Given the description of an element on the screen output the (x, y) to click on. 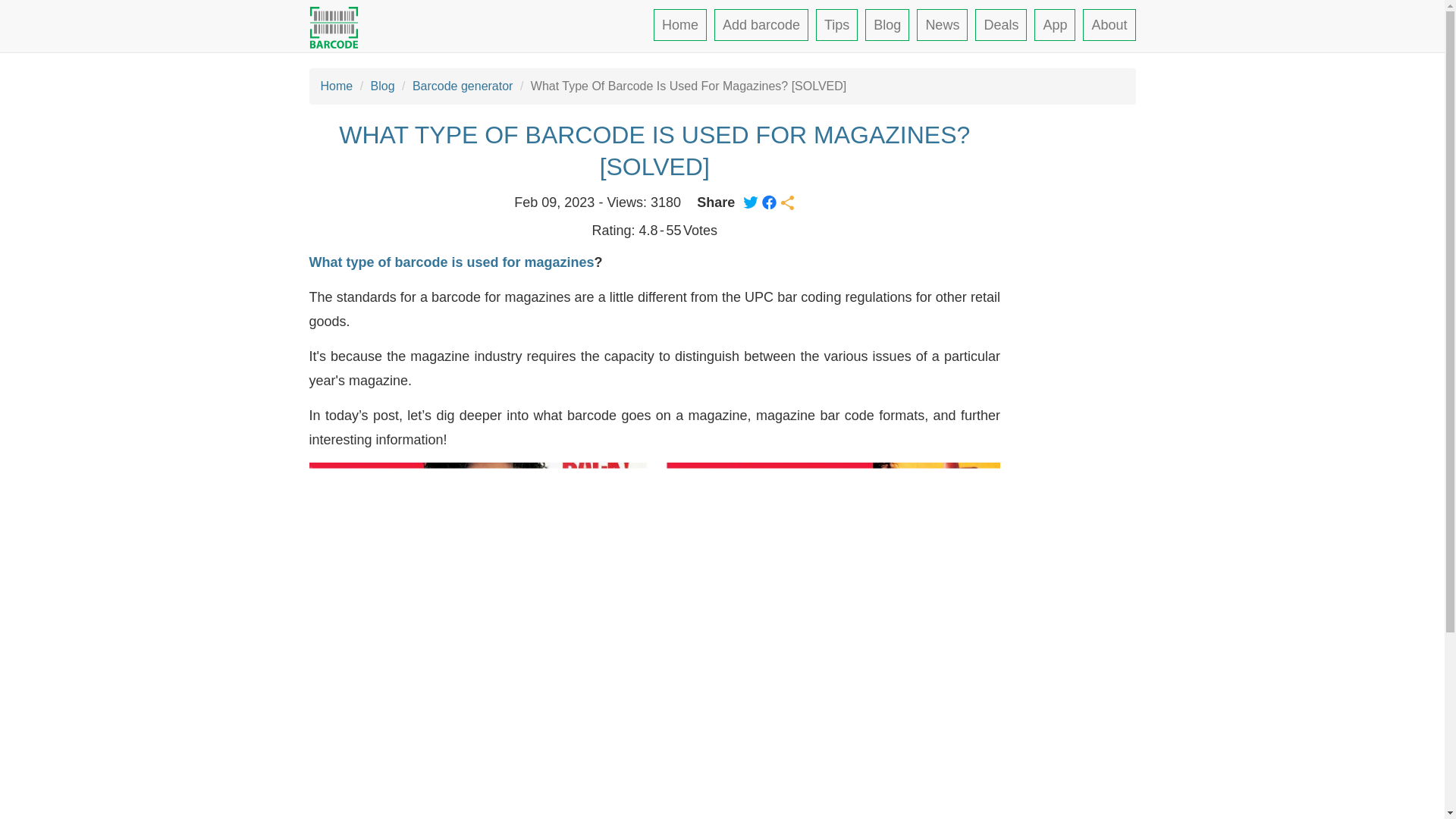
Blog (886, 24)
Home (679, 24)
App (1054, 24)
Blog (382, 85)
What type of barcode is used for magazines (451, 262)
Add barcode (761, 24)
About (1109, 24)
Barcode generator (462, 85)
Deals (1000, 24)
Tips (836, 24)
